Given the description of an element on the screen output the (x, y) to click on. 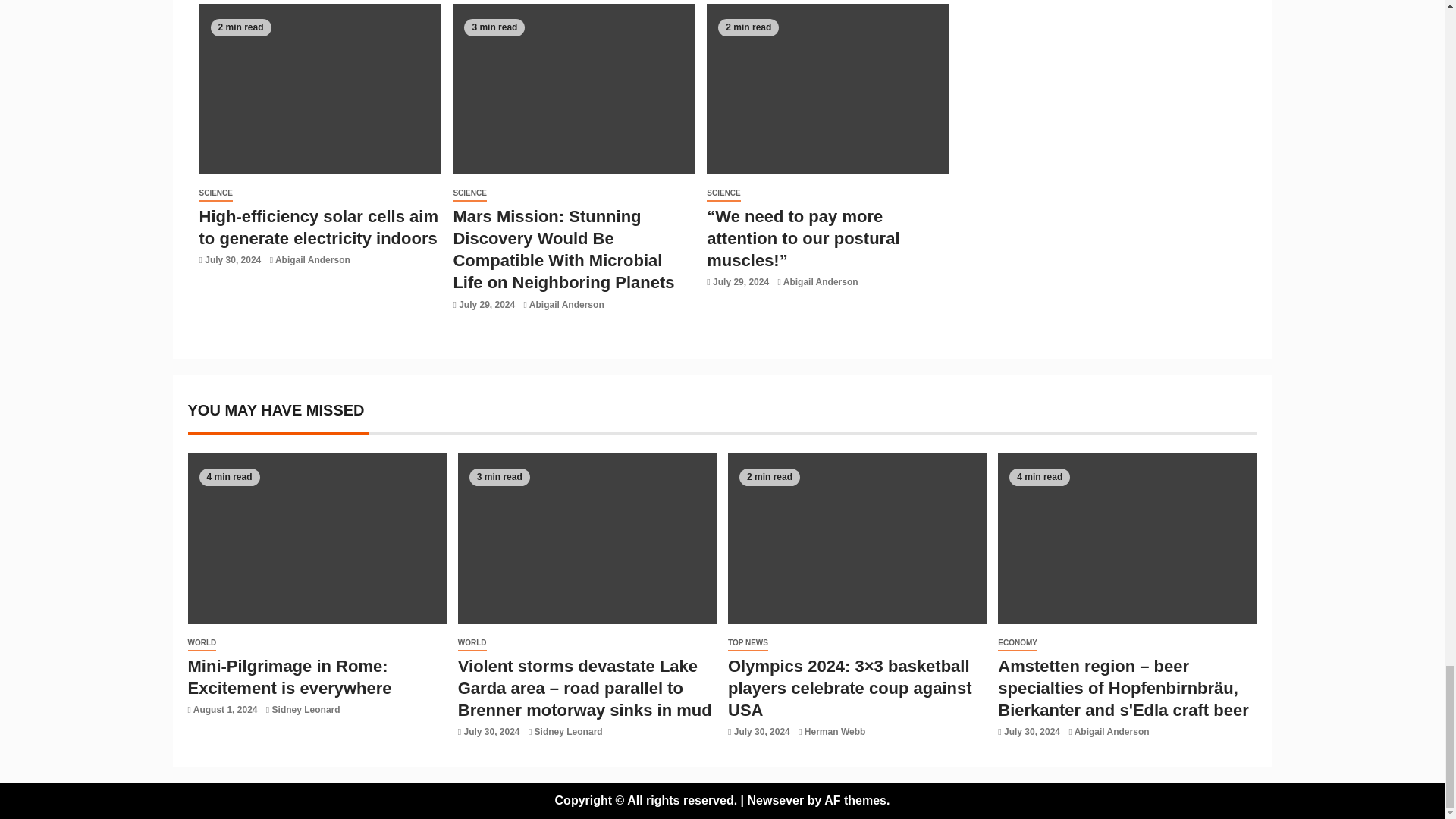
SCIENCE (214, 193)
Abigail Anderson (312, 259)
